Given the description of an element on the screen output the (x, y) to click on. 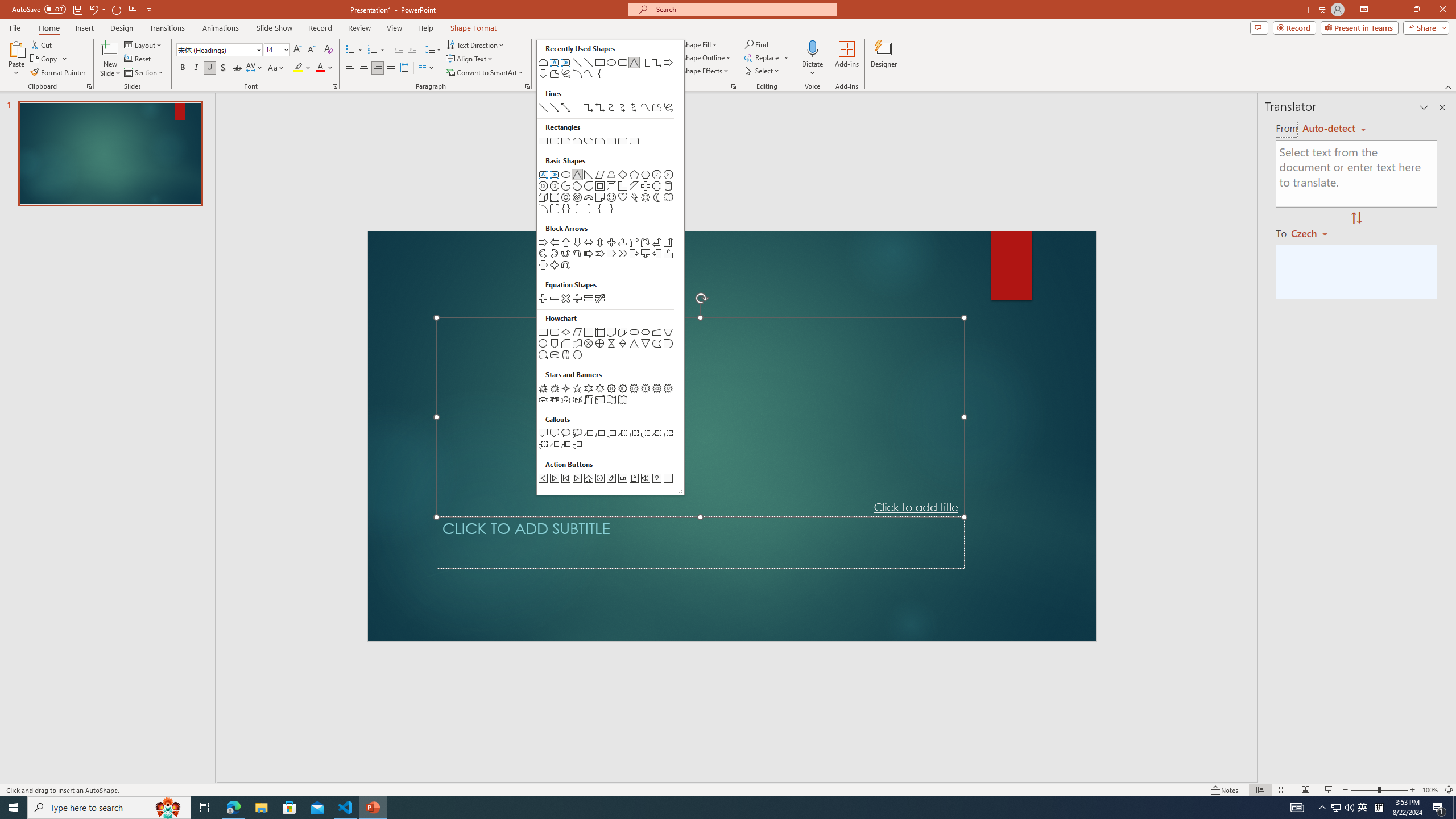
Justify (390, 67)
Format Painter (58, 72)
Paragraph... (526, 85)
